Given the description of an element on the screen output the (x, y) to click on. 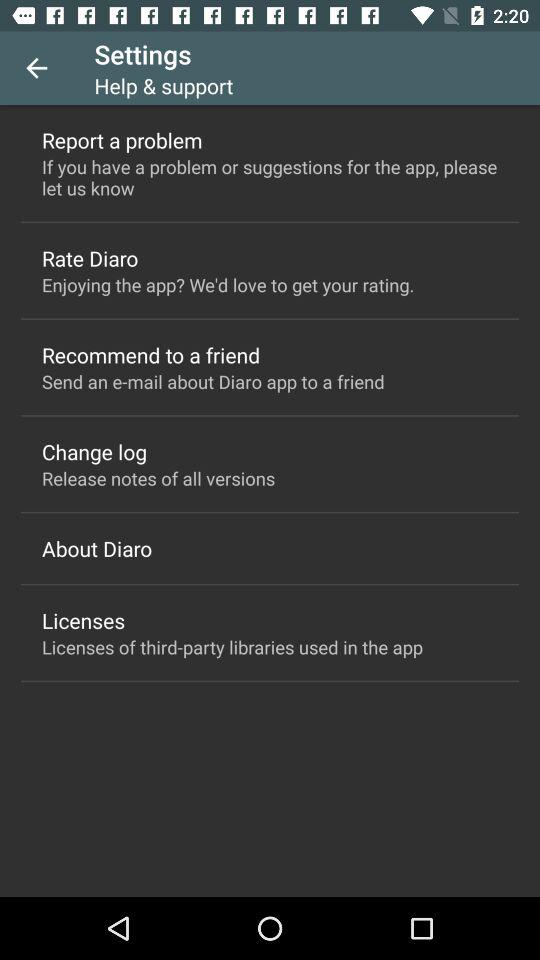
swipe until change log icon (94, 451)
